Given the description of an element on the screen output the (x, y) to click on. 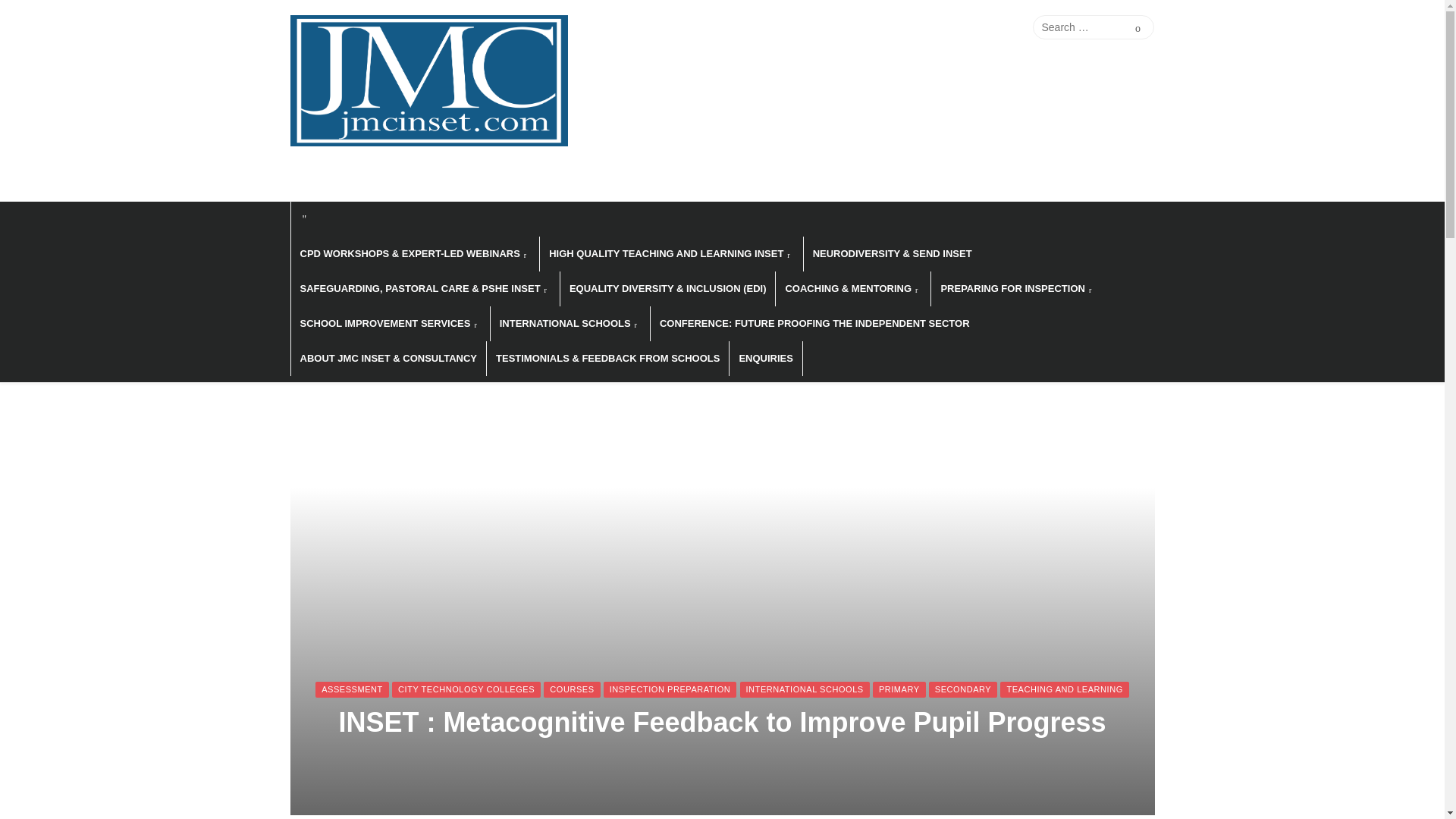
Search (1137, 27)
Our full INSET course directory (948, 27)
HIGH QUALITY TEACHING AND LEARNING INSET (670, 253)
